Given the description of an element on the screen output the (x, y) to click on. 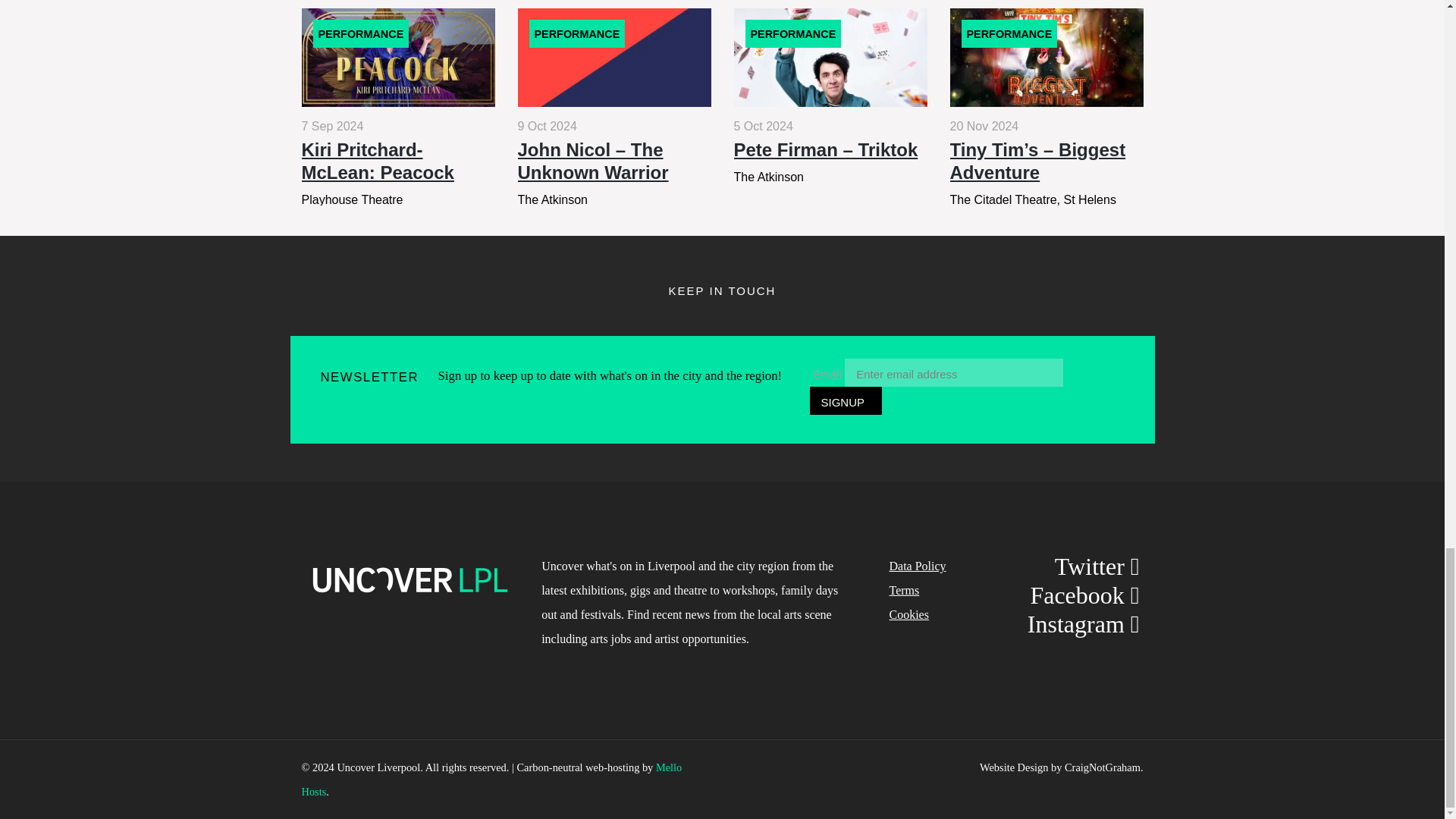
Signup (845, 400)
Signup (845, 400)
Kiri Pritchard-McLean: Peacock (398, 106)
Data Policy (916, 565)
Tiny Tim's - Biggest Adventure (1045, 106)
